Given the description of an element on the screen output the (x, y) to click on. 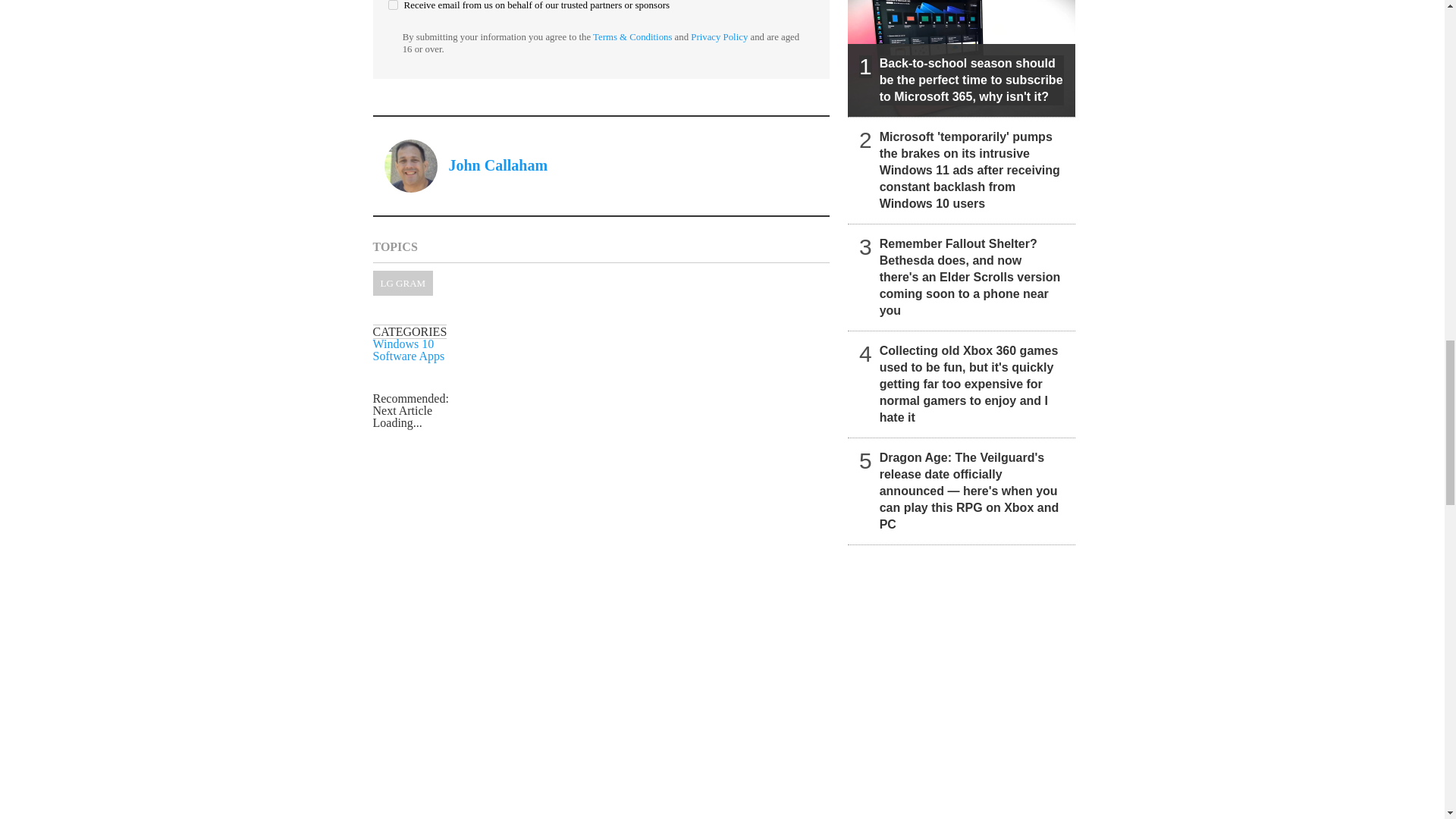
Windows 10 (402, 343)
Software Apps (408, 355)
Privacy Policy (719, 36)
on (392, 4)
LG GRAM (402, 283)
John Callaham (498, 165)
